Given the description of an element on the screen output the (x, y) to click on. 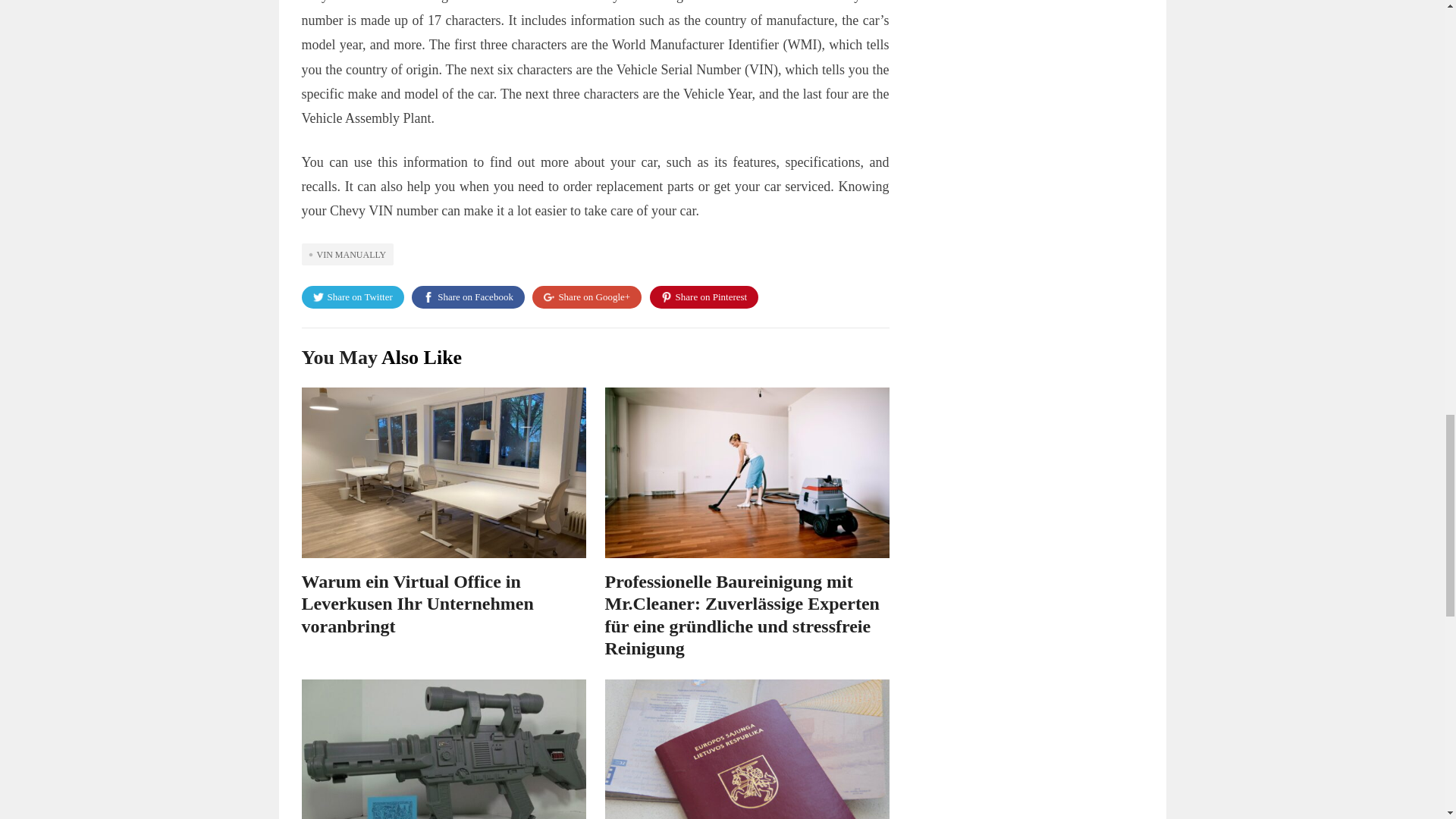
Share on Pinterest (703, 296)
Share on Facebook (468, 296)
VIN MANUALLY (347, 253)
Share on Twitter (352, 296)
